Given the description of an element on the screen output the (x, y) to click on. 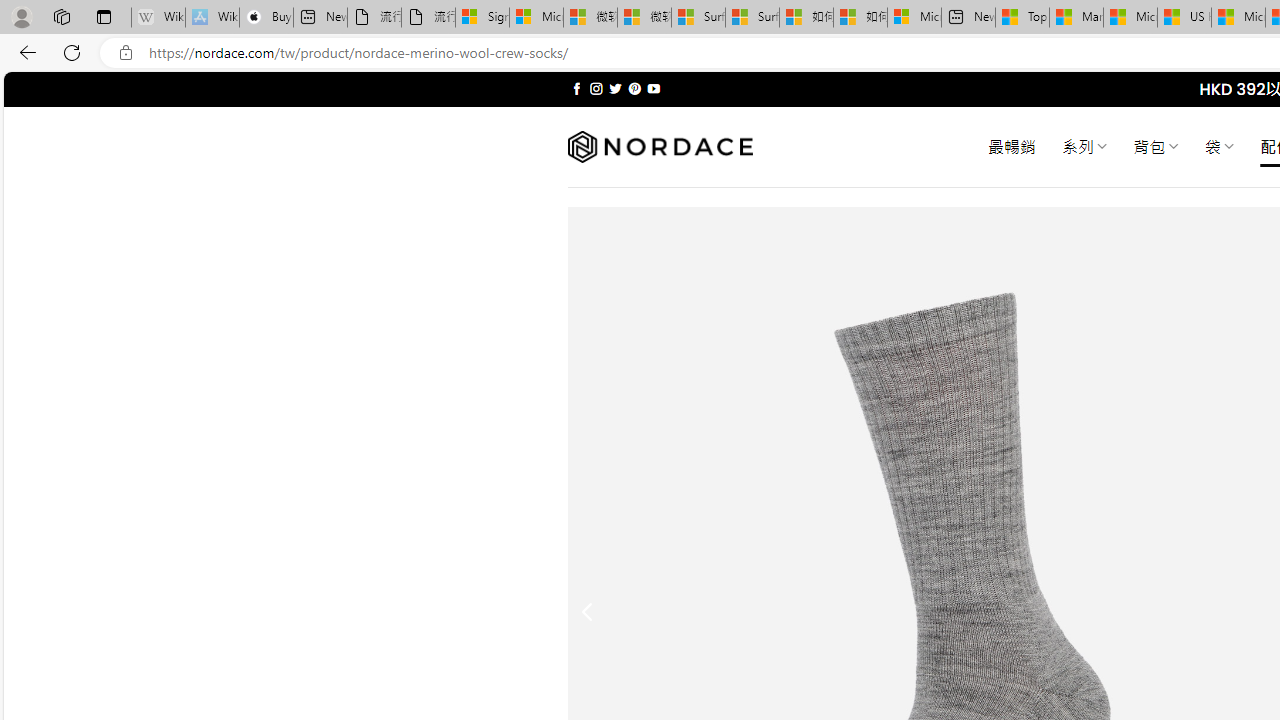
Microsoft account | Account Checkup (914, 17)
Follow on Facebook (576, 88)
